Given the description of an element on the screen output the (x, y) to click on. 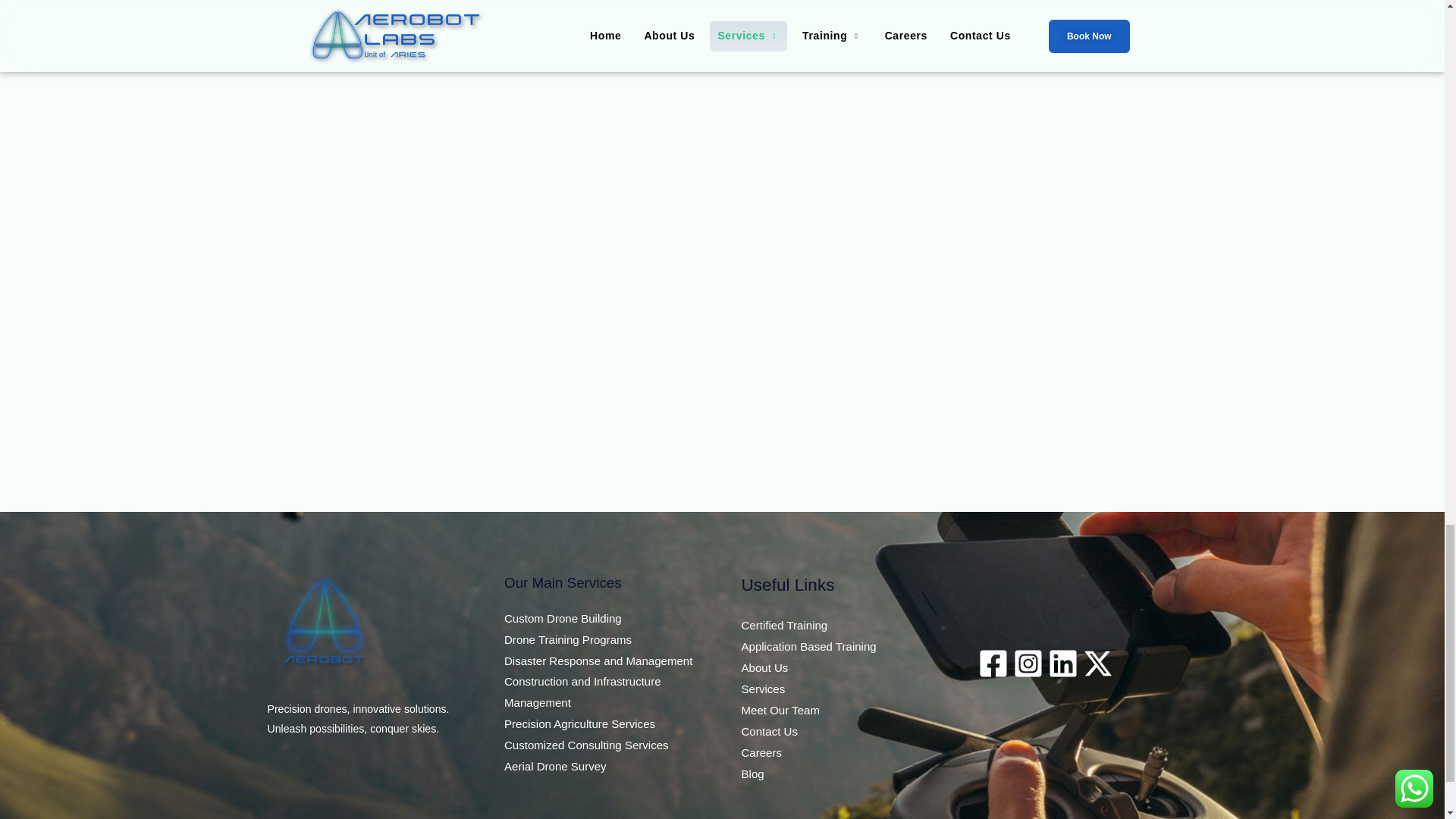
Careers (762, 752)
Meet Our Team (780, 709)
Application Based Training (808, 645)
Construction and Infrastructure Management (582, 691)
Custom Drone Building (562, 617)
Drone Training Programs (567, 639)
Services (763, 688)
Blog (752, 773)
Contact Us (769, 730)
Precision Agriculture Services (579, 723)
